Given the description of an element on the screen output the (x, y) to click on. 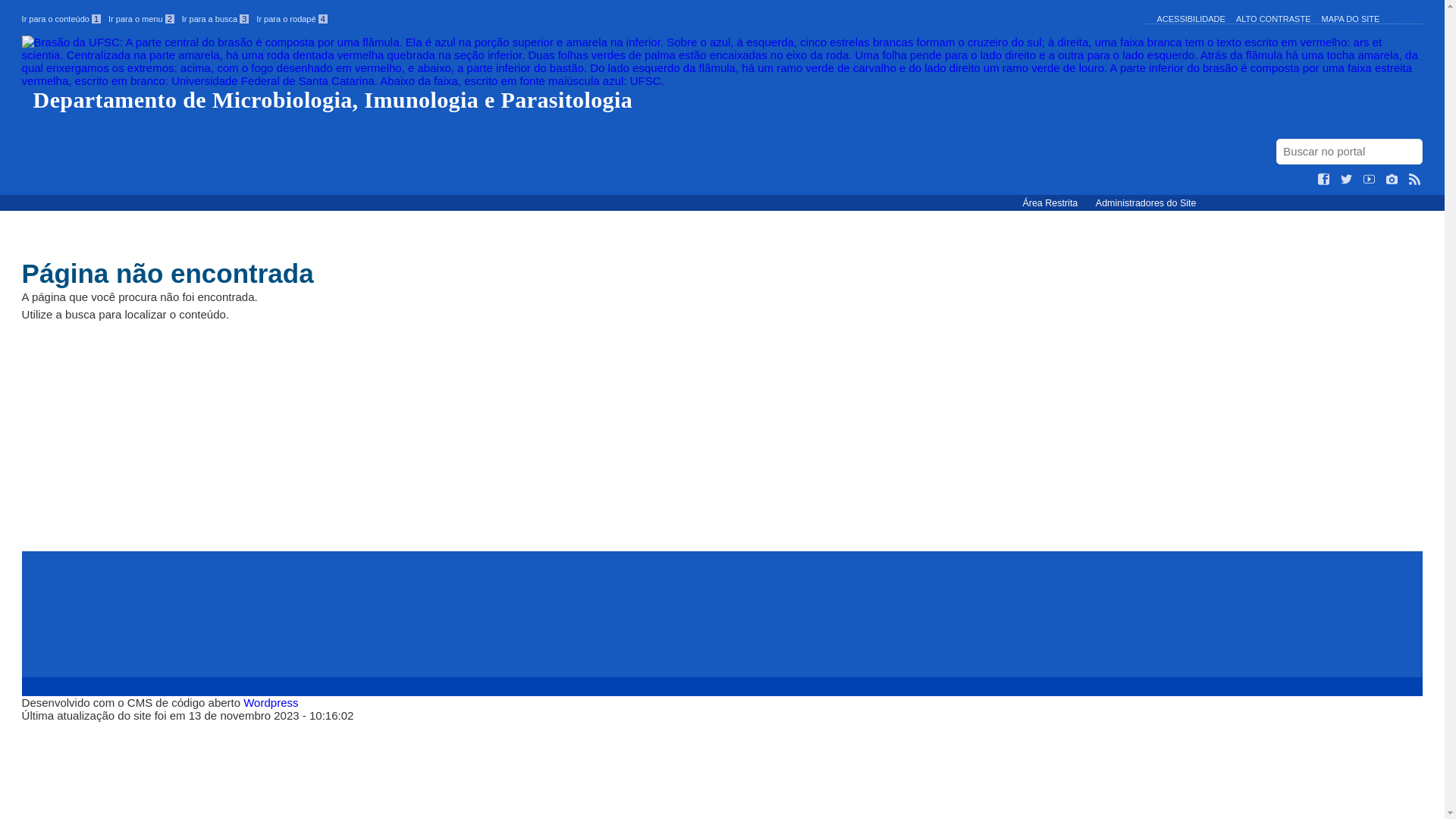
ACESSIBILIDADE Element type: text (1190, 18)
Wordpress Element type: text (270, 702)
MAPA DO SITE Element type: text (1350, 18)
Veja no Instagram Element type: hover (1392, 179)
Departamento de Microbiologia, Imunologia e Parasitologia Element type: text (722, 73)
Siga no Twitter Element type: hover (1346, 179)
Administradores do Site Element type: text (1146, 202)
Curta no Facebook Element type: hover (1323, 179)
Ir para o menu 2 Element type: text (141, 18)
Ir para a busca 3 Element type: text (215, 18)
ALTO CONTRASTE Element type: text (1273, 18)
